Given the description of an element on the screen output the (x, y) to click on. 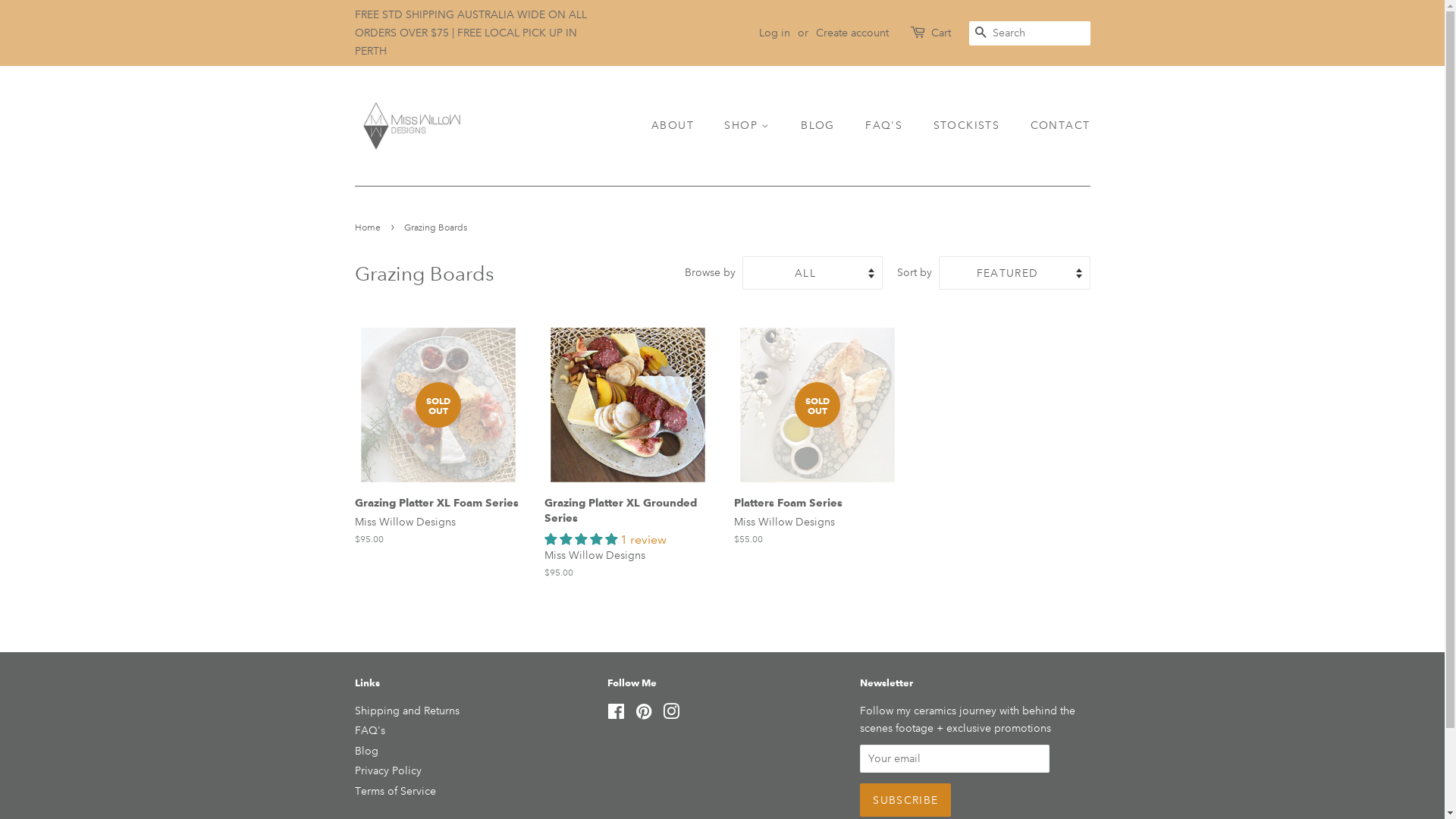
SEARCH Element type: text (981, 33)
BLOG Element type: text (819, 125)
Shipping and Returns Element type: text (406, 710)
Create account Element type: text (851, 32)
Log in Element type: text (773, 32)
Terms of Service Element type: text (395, 790)
Home Element type: text (369, 227)
STOCKISTS Element type: text (968, 125)
FAQ's Element type: text (369, 730)
SHOP Element type: text (748, 125)
ABOUT Element type: text (680, 125)
Facebook Element type: text (615, 714)
Subscribe Element type: text (904, 799)
Privacy Policy Element type: text (387, 770)
Instagram Element type: text (670, 714)
CONTACT Element type: text (1054, 125)
Cart Element type: text (940, 33)
FAQ'S Element type: text (885, 125)
Pinterest Element type: text (643, 714)
Blog Element type: text (366, 750)
